Given the description of an element on the screen output the (x, y) to click on. 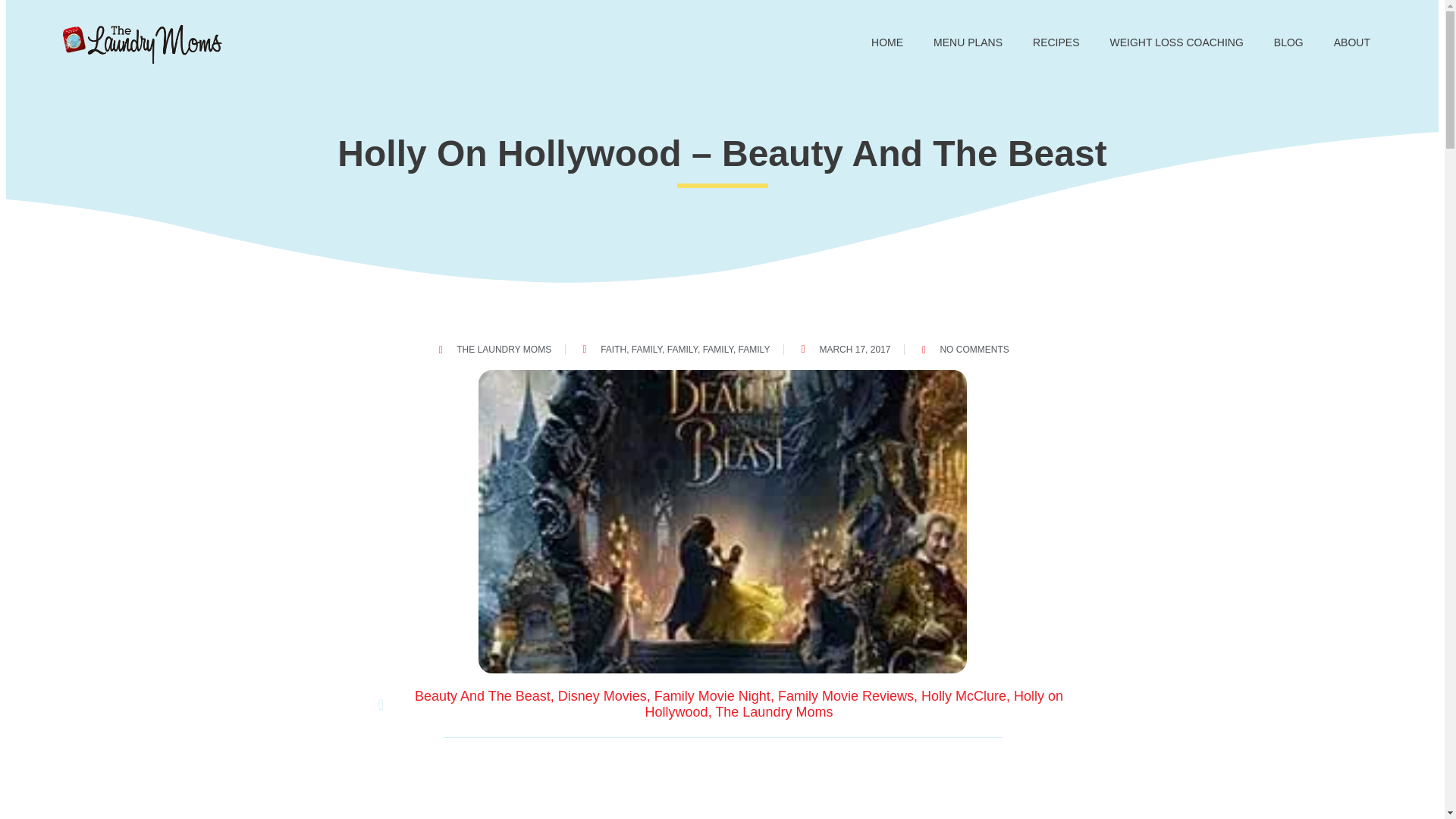
Beauty And The Beast (482, 695)
MARCH 17, 2017 (843, 348)
FAMILY (646, 348)
FAMILY (681, 348)
WEIGHT LOSS COACHING (1176, 42)
Family Movie Night (711, 695)
THE LAUNDRY MOMS (493, 348)
Disney Movies (601, 695)
RECIPES (1055, 42)
ABOUT (1352, 42)
